Given the description of an element on the screen output the (x, y) to click on. 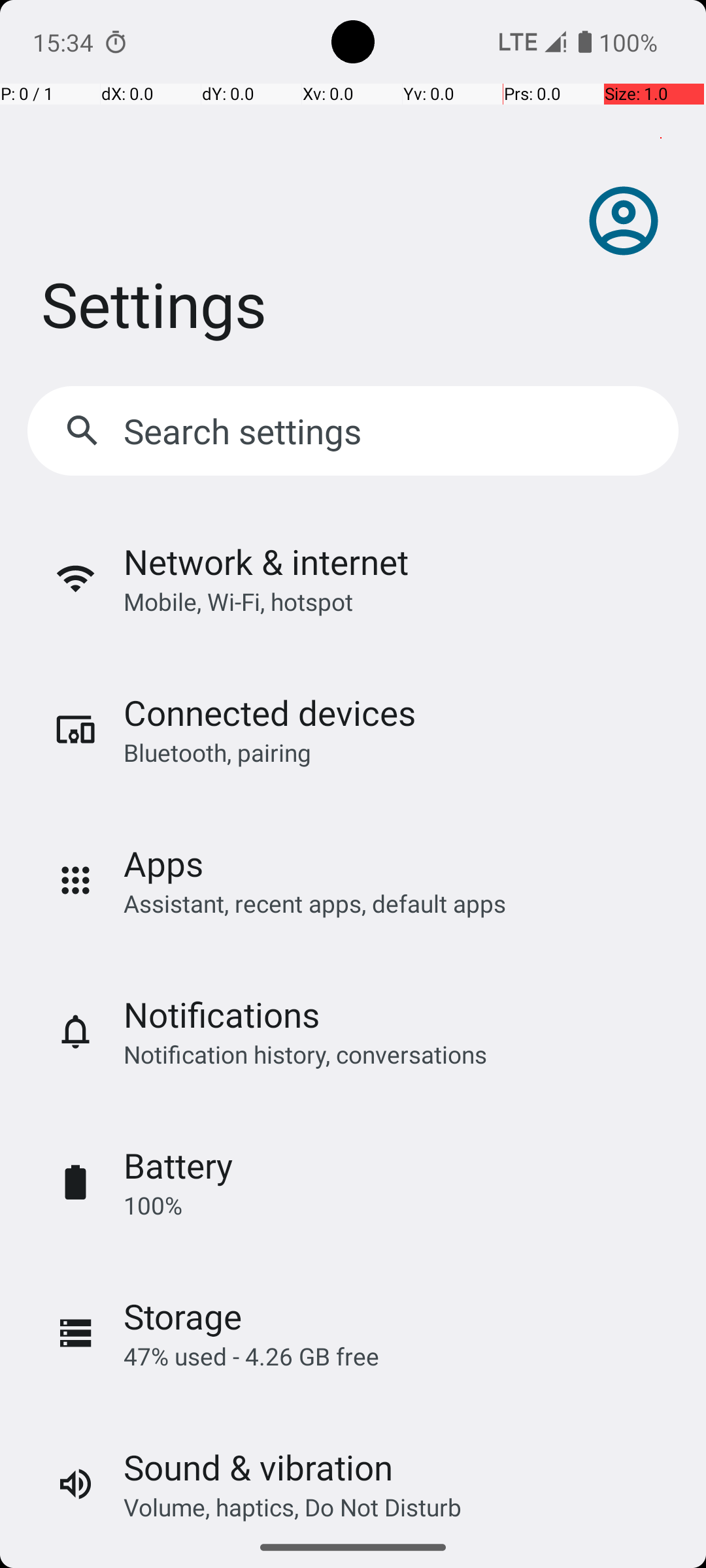
47% used - 4.26 GB free Element type: android.widget.TextView (251, 1355)
